Given the description of an element on the screen output the (x, y) to click on. 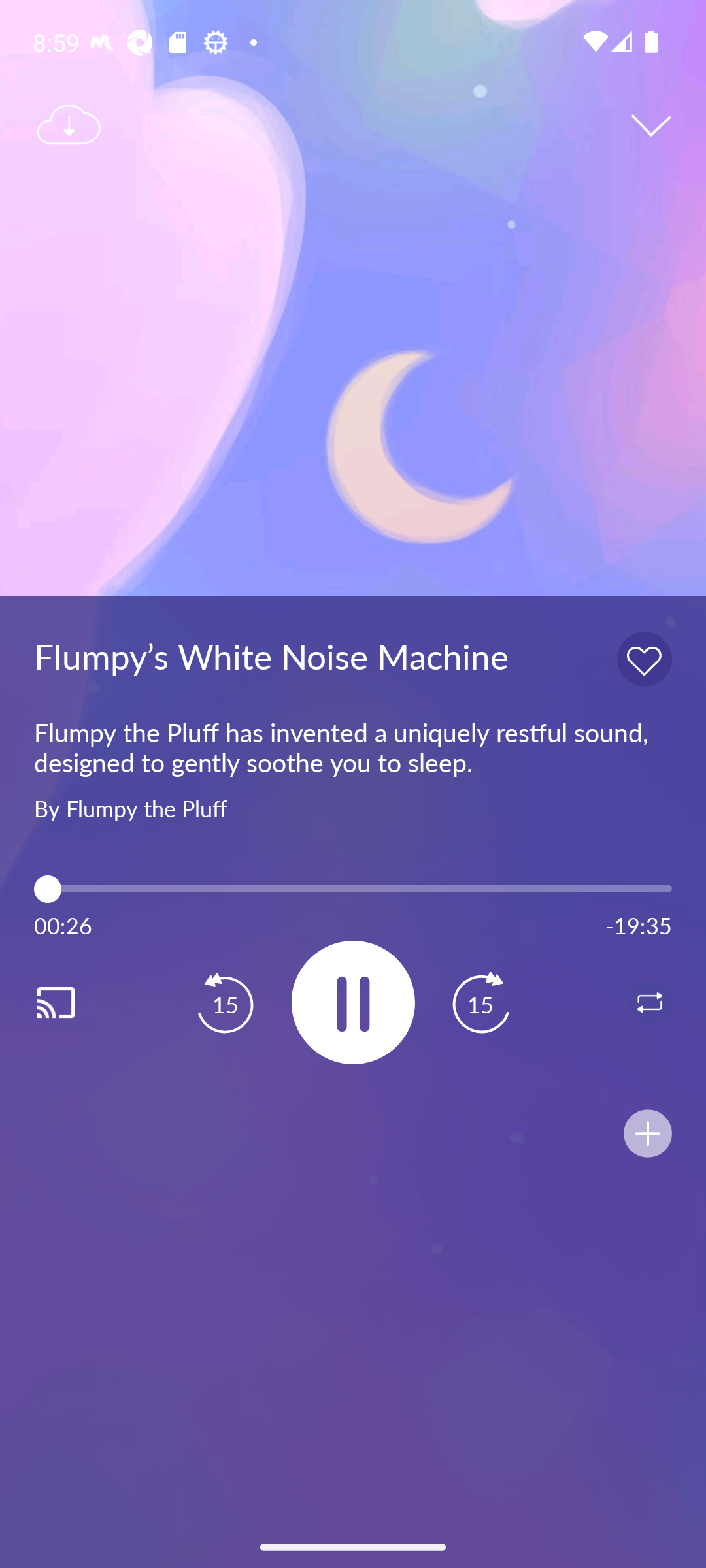
26.0 (352, 888)
Cast. Disconnected (76, 1002)
